Given the description of an element on the screen output the (x, y) to click on. 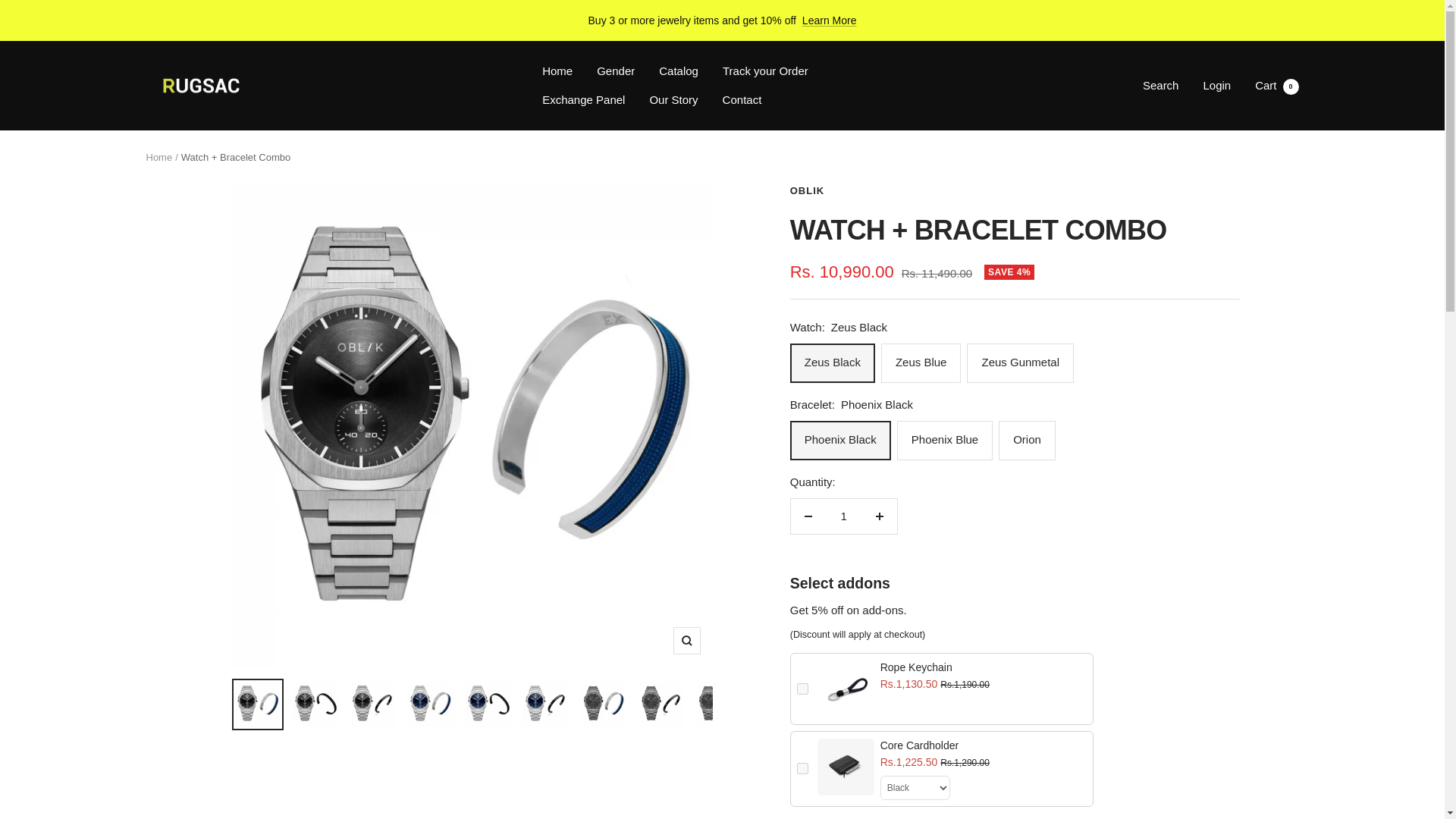
Rugsac (198, 85)
Login (1216, 84)
Our Story (673, 99)
Catalog (678, 71)
Learn More (829, 20)
on (802, 767)
Contact (741, 99)
